Given the description of an element on the screen output the (x, y) to click on. 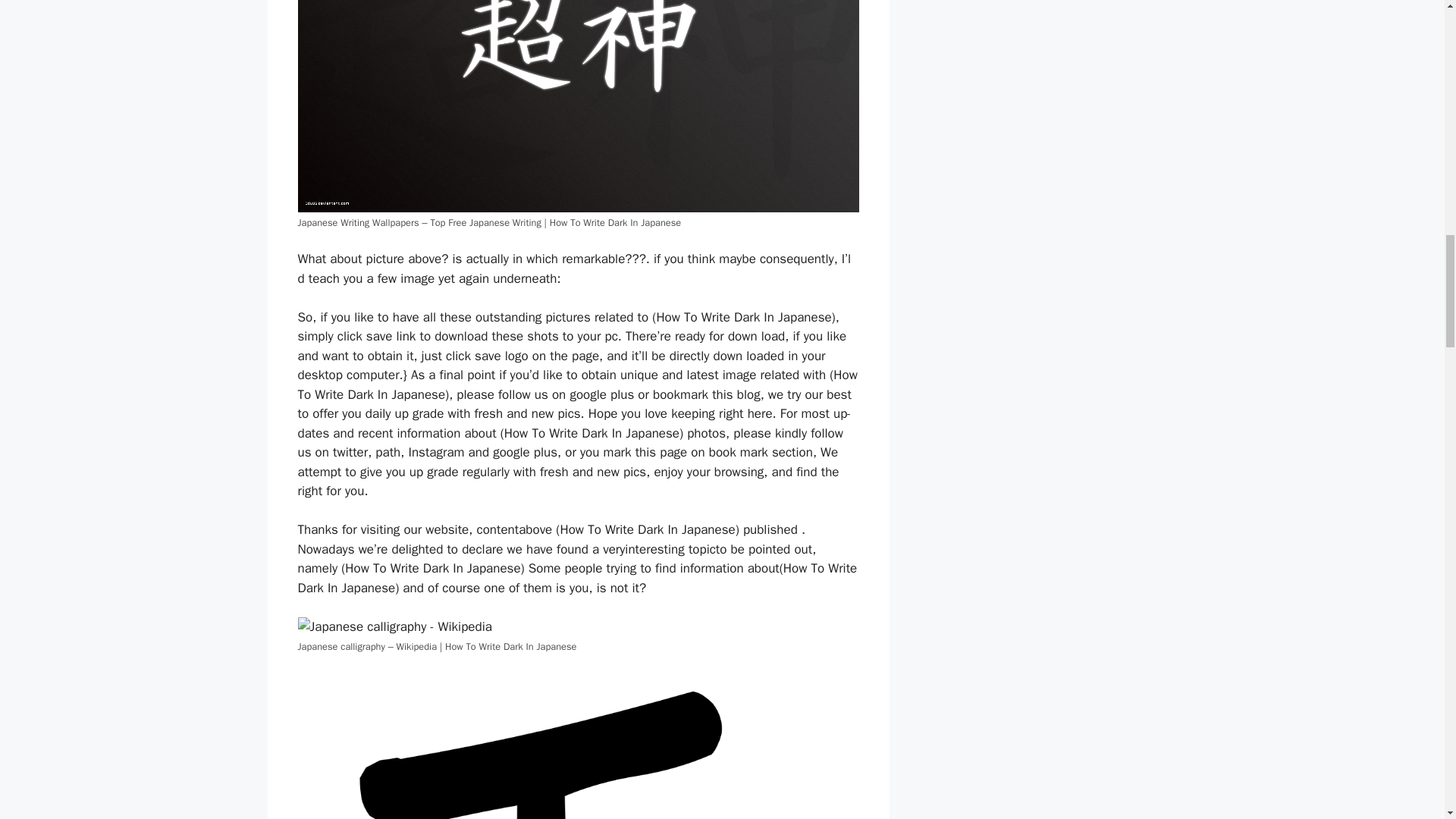
Japanese Writing Wallpapers - Top Free Japanese Writing (578, 106)
Japanese calligraphy - Wikipedia (394, 627)
